Given the description of an element on the screen output the (x, y) to click on. 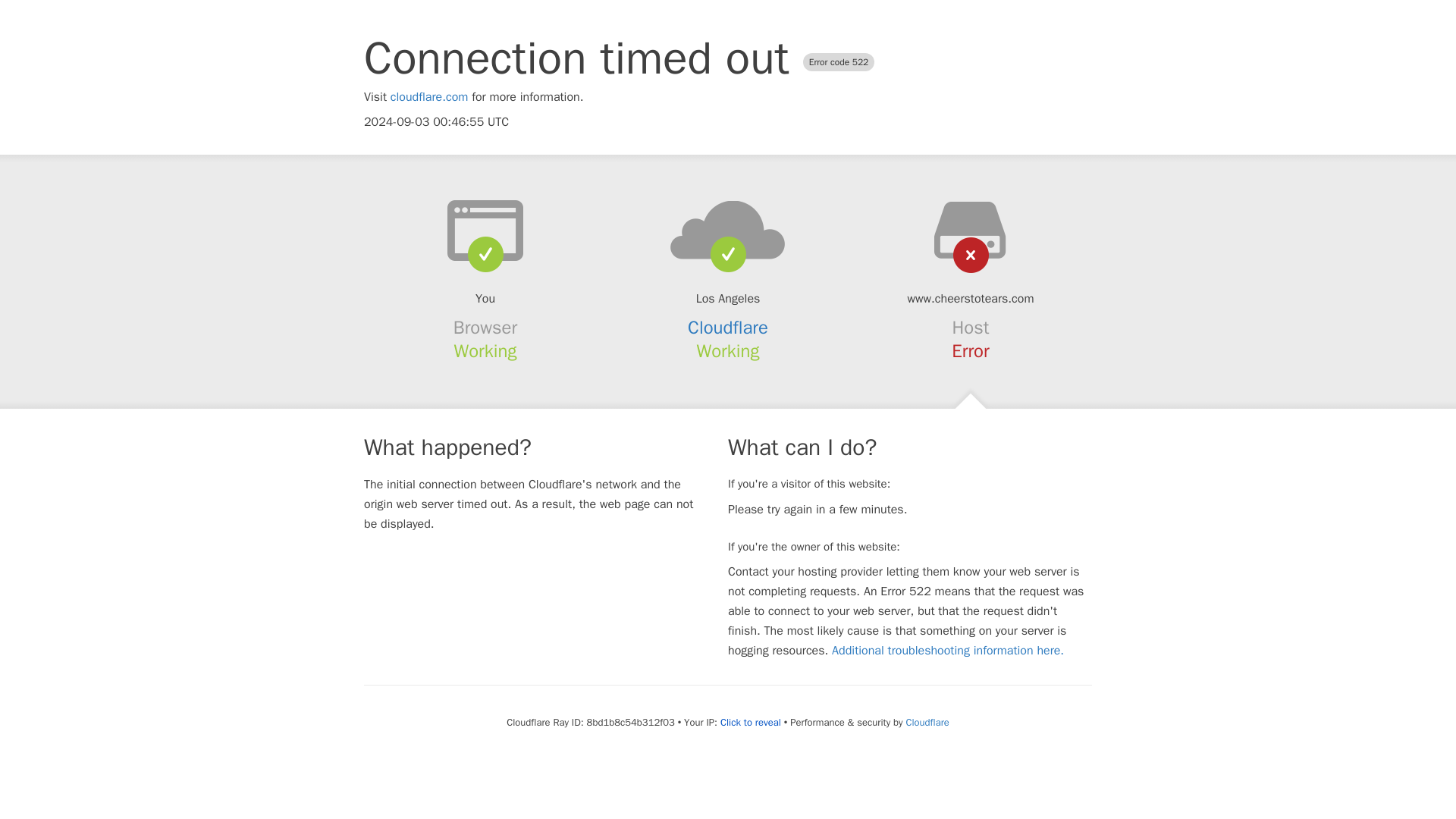
Click to reveal (750, 722)
Cloudflare (727, 327)
Cloudflare (927, 721)
Additional troubleshooting information here. (947, 650)
cloudflare.com (429, 96)
